Given the description of an element on the screen output the (x, y) to click on. 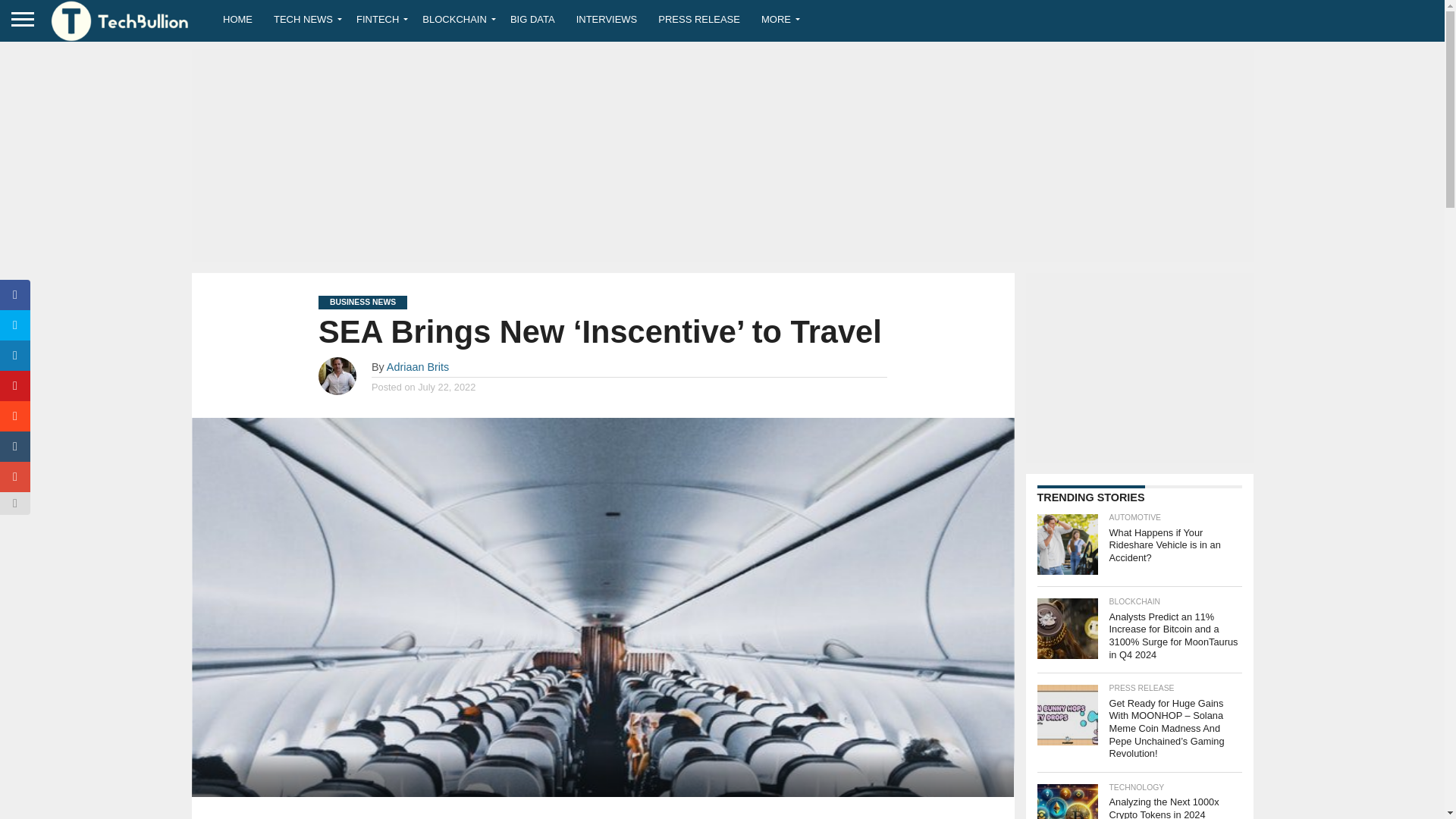
Posts by Adriaan Brits (417, 367)
